Given the description of an element on the screen output the (x, y) to click on. 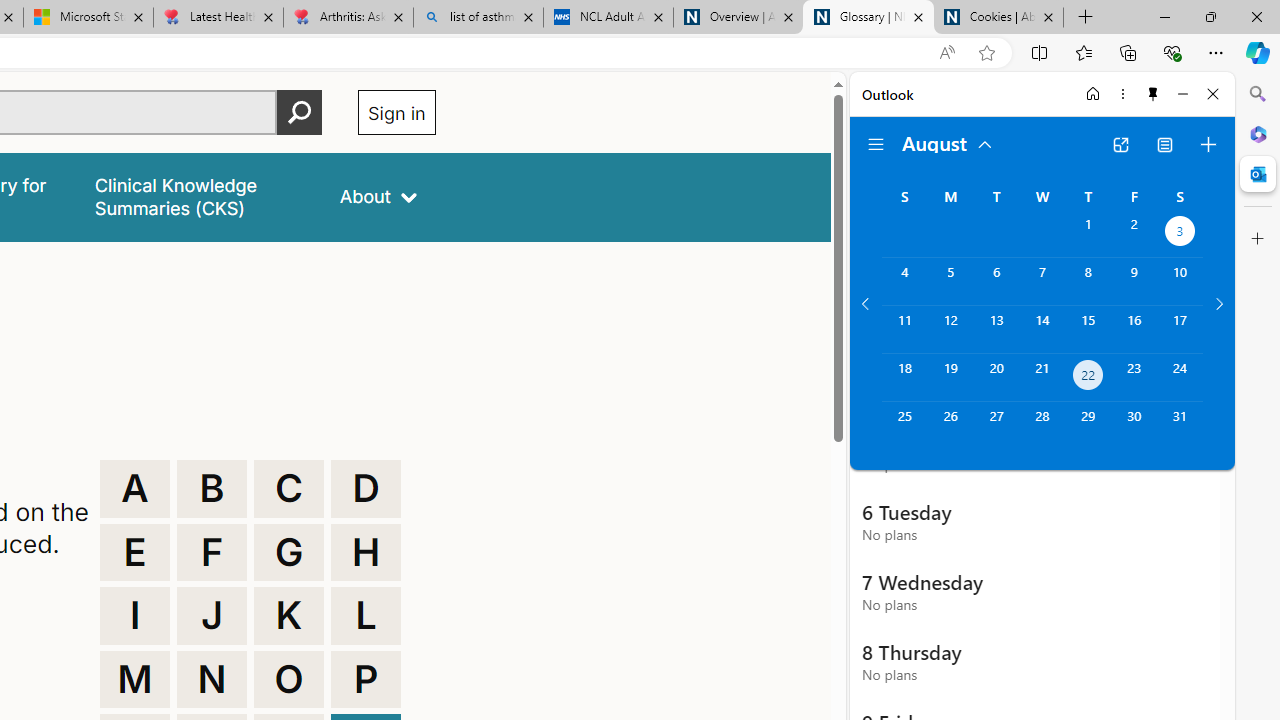
Thursday, August 22, 2024. Today.  (1088, 377)
F (212, 551)
C (289, 488)
Create event (1208, 144)
E (134, 551)
I (134, 615)
Thursday, August 15, 2024.  (1088, 329)
Glossary | NICE (868, 17)
Sunday, August 11, 2024.  (904, 329)
P (365, 679)
